Given the description of an element on the screen output the (x, y) to click on. 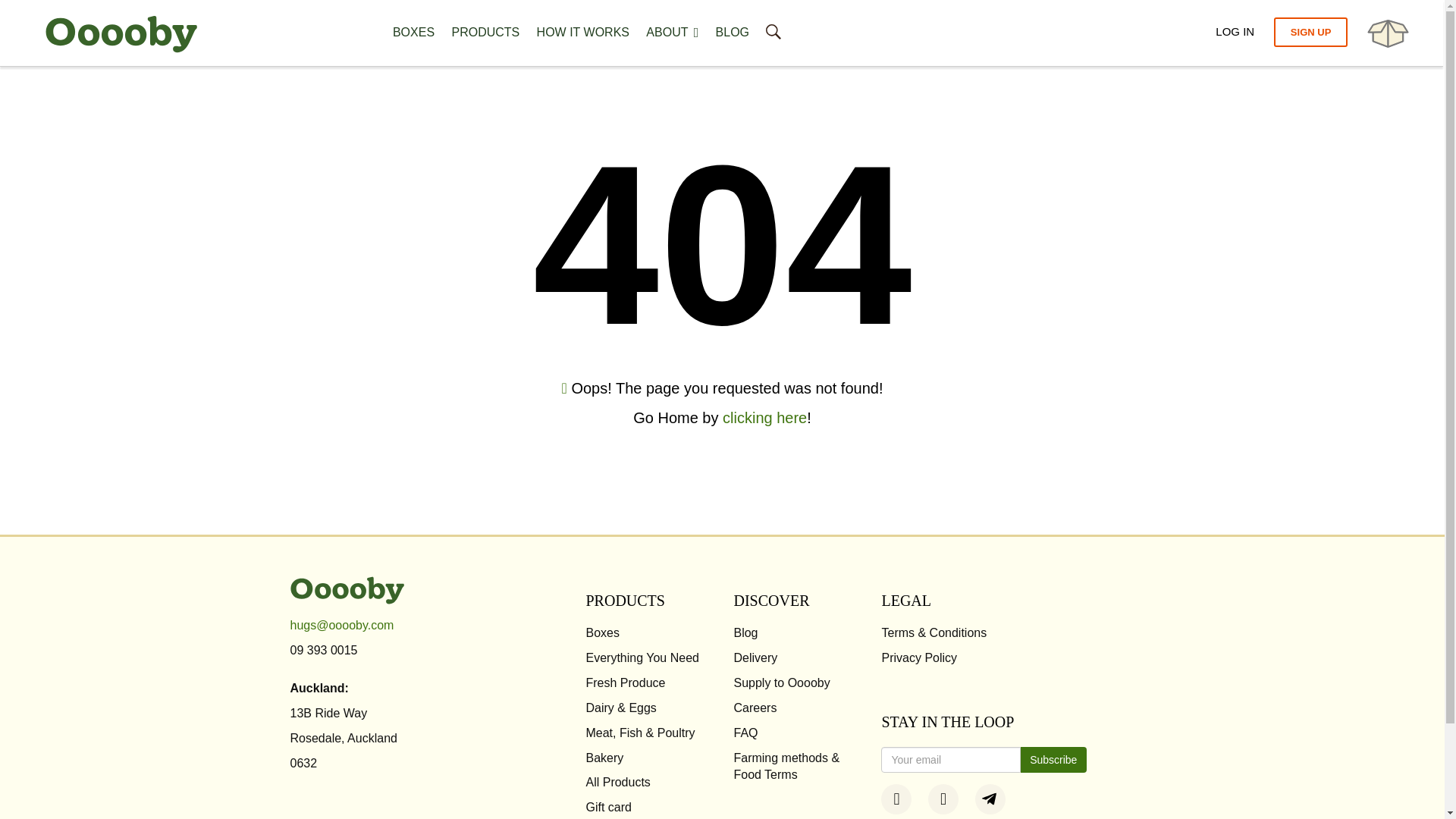
BLOG (732, 33)
LOG IN (1234, 33)
PRODUCTS (485, 33)
BOXES (413, 33)
ABOUT (672, 33)
SIGN UP (1311, 31)
Subscribe (1053, 759)
HOW IT WORKS (582, 33)
clicking here (764, 417)
